Given the description of an element on the screen output the (x, y) to click on. 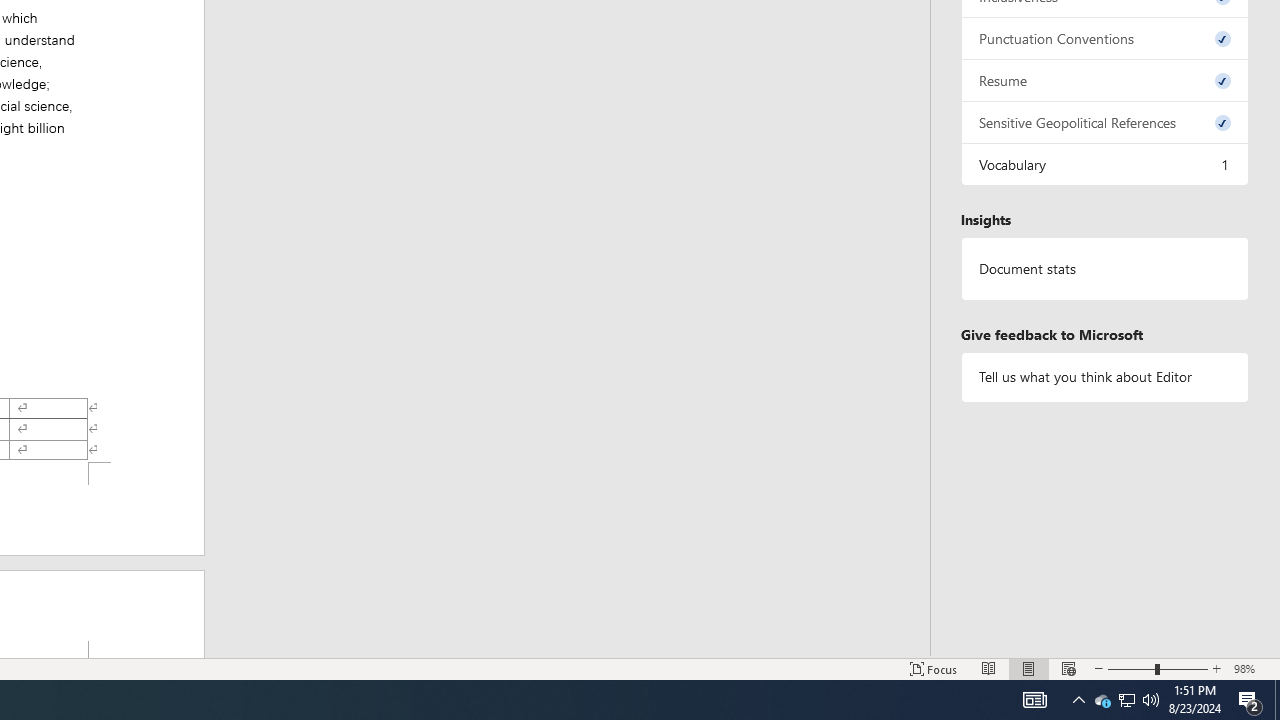
Vocabulary, 1 issue. Press space or enter to review items. (1105, 164)
Resume, 0 issues. Press space or enter to review items. (1105, 79)
Document statistics (1105, 269)
Tell us what you think about Editor (1105, 376)
